Given the description of an element on the screen output the (x, y) to click on. 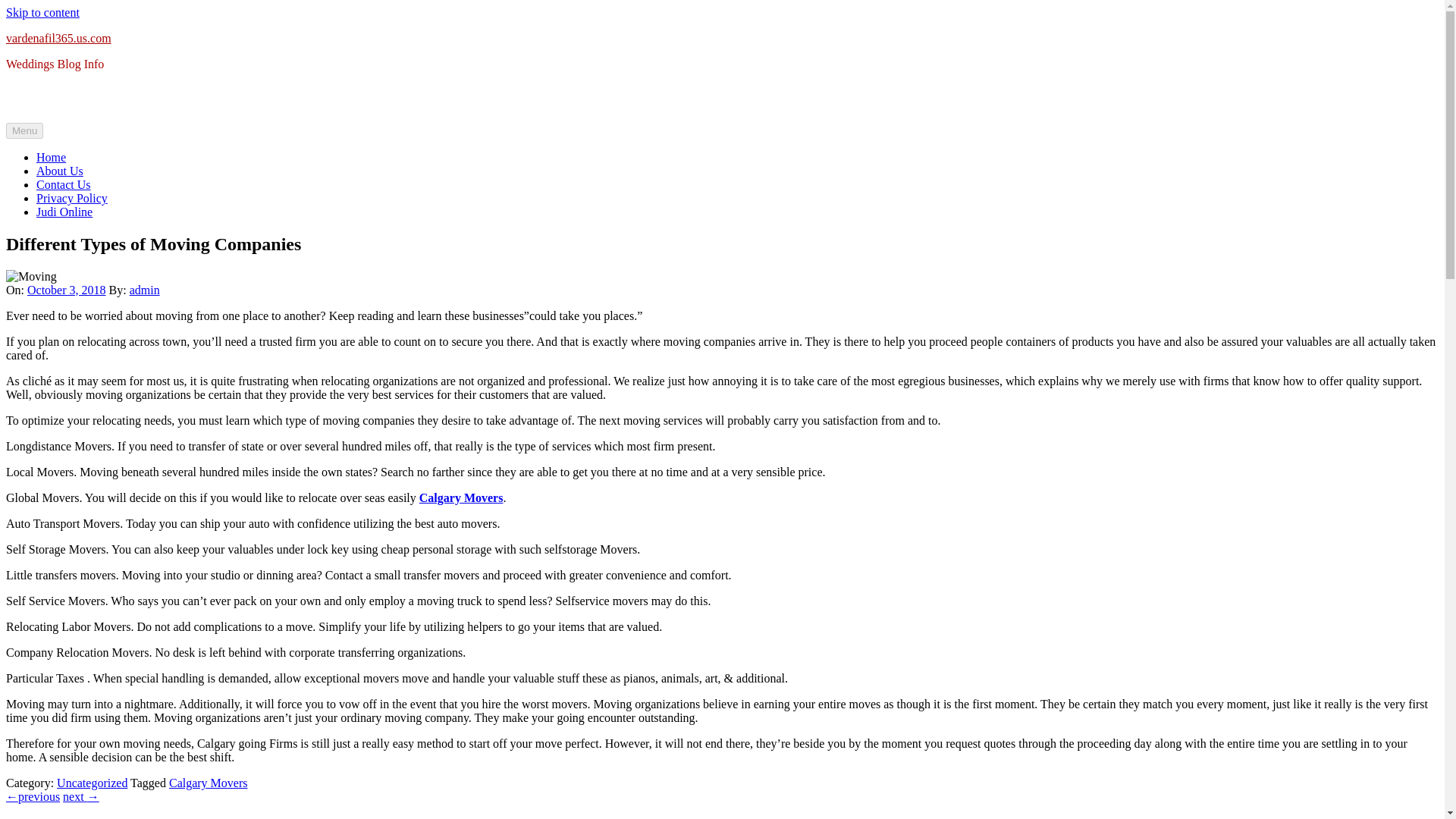
Calgary Movers (461, 497)
Home (50, 156)
October 3, 2018 (66, 289)
Skip to content (42, 11)
Menu (24, 130)
vardenafil365.us.com (58, 38)
Uncategorized (92, 782)
Calgary Movers (207, 782)
Privacy Policy (71, 197)
Judi Online (64, 211)
